Given the description of an element on the screen output the (x, y) to click on. 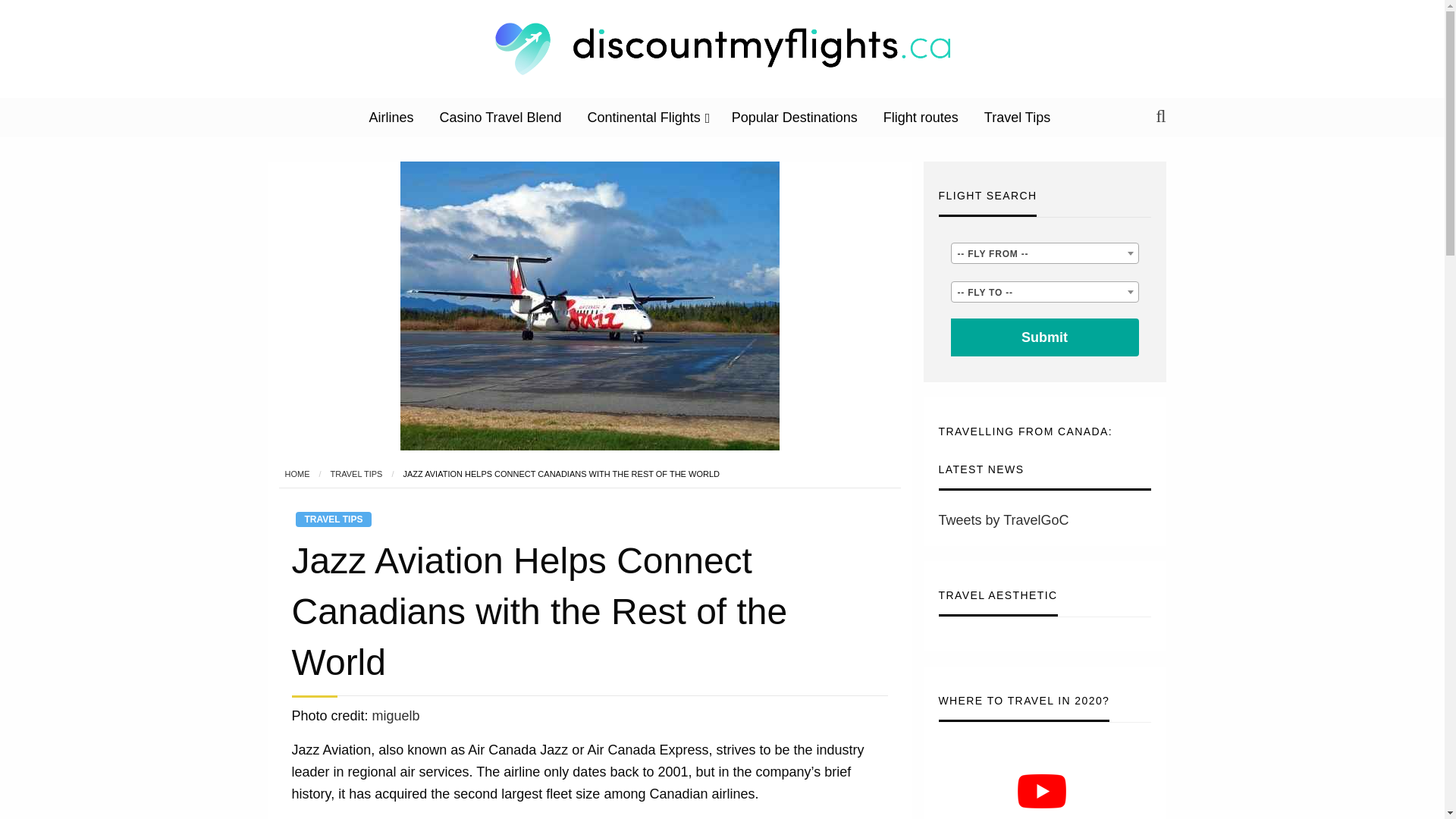
Submit (1044, 337)
Tweets by TravelGoC (1003, 519)
Home (297, 473)
-- Fly From -- (1044, 252)
Flight routes (920, 117)
-- Fly To -- (1043, 292)
Casino Travel Blend (499, 117)
Popular Destinations (794, 117)
Submit (1044, 337)
-- Fly From -- (1043, 253)
